Given the description of an element on the screen output the (x, y) to click on. 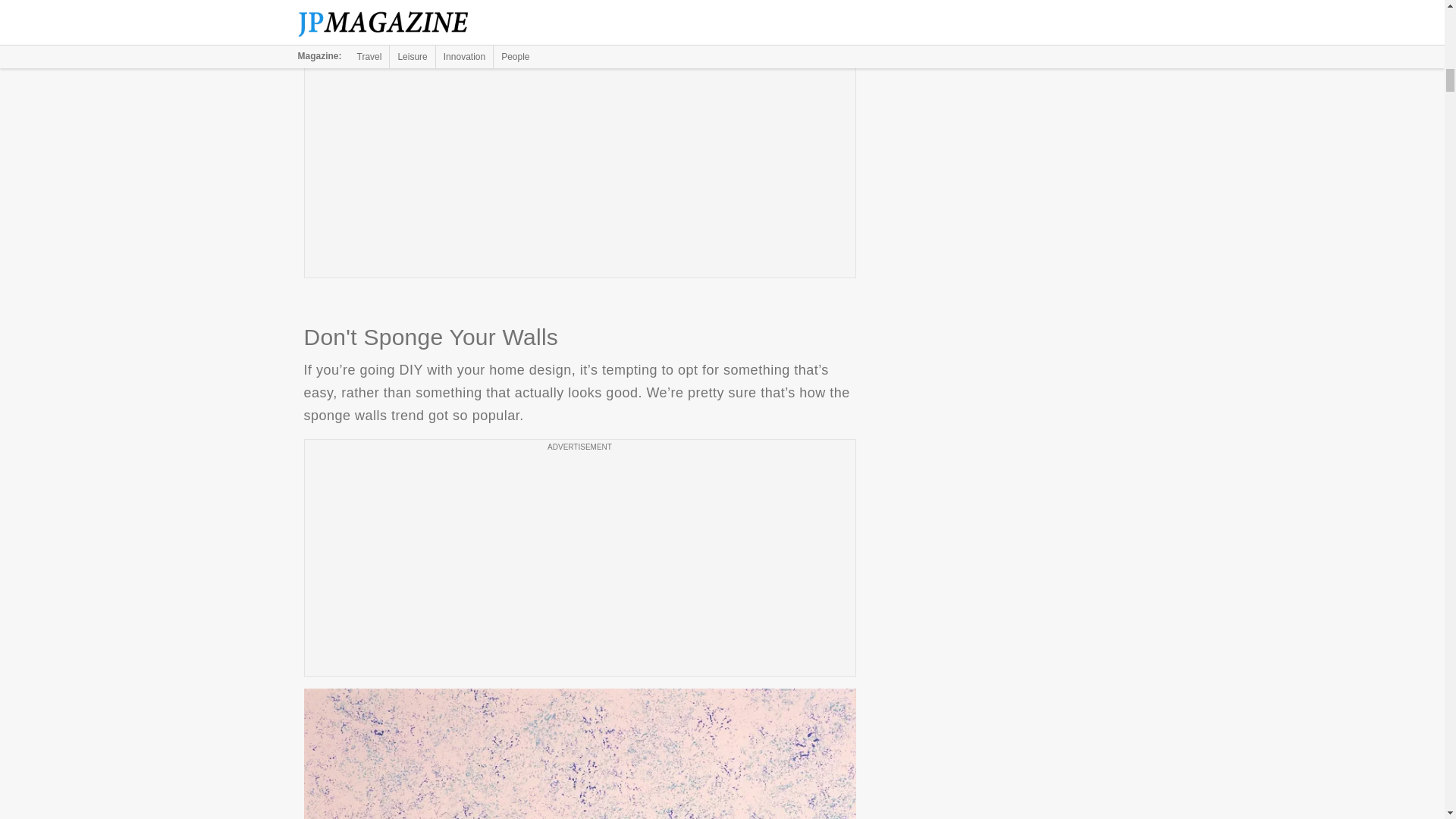
Don't Sponge Your Walls (579, 753)
